Given the description of an element on the screen output the (x, y) to click on. 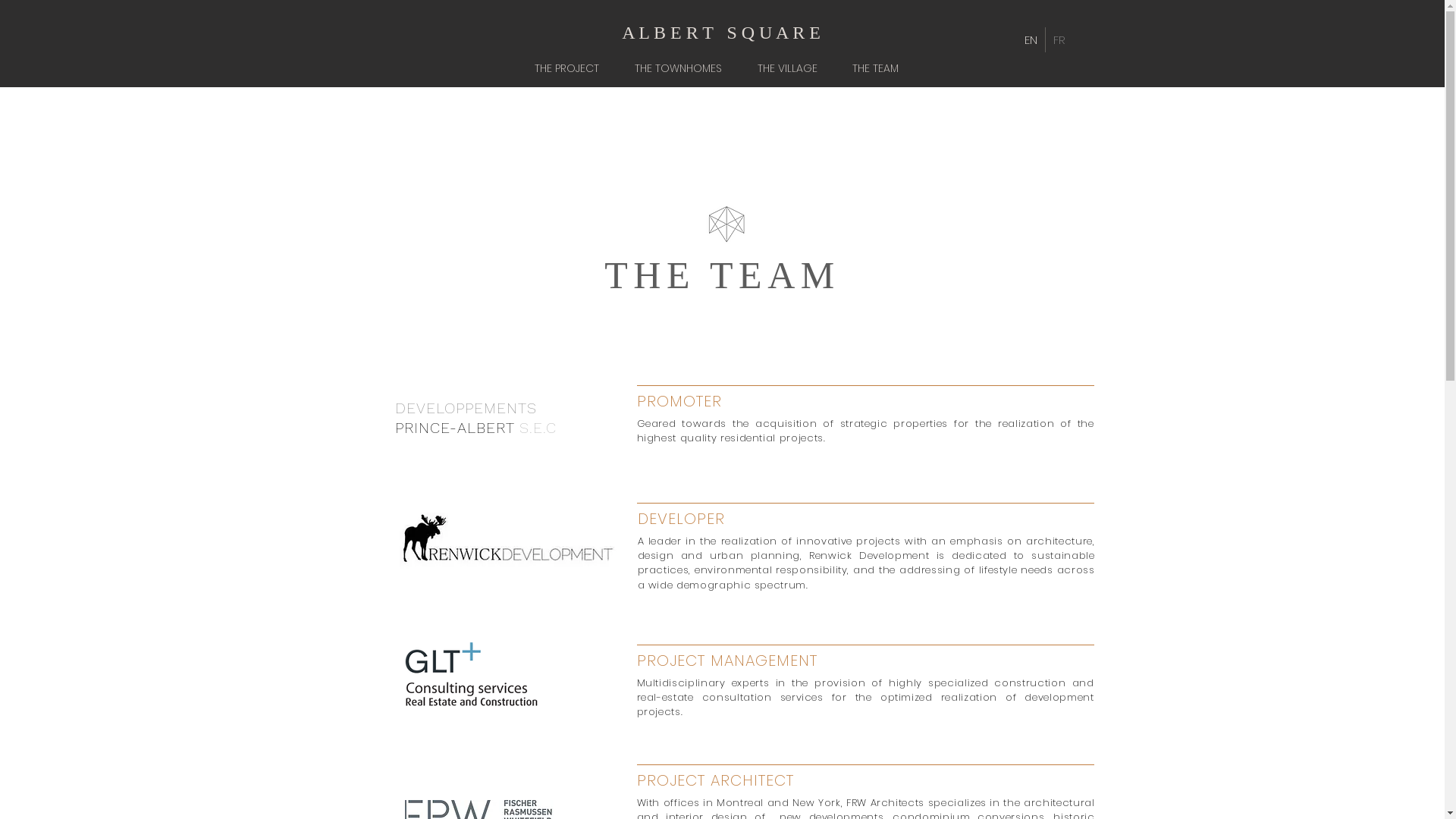
THE TEAM Element type: text (880, 68)
THE PROJECT Element type: text (573, 68)
THE VILLAGE Element type: text (793, 68)
EN Element type: text (1030, 39)
FR Element type: text (1058, 39)
A L B E R T   S Q U A R E Element type: text (720, 32)
